Given the description of an element on the screen output the (x, y) to click on. 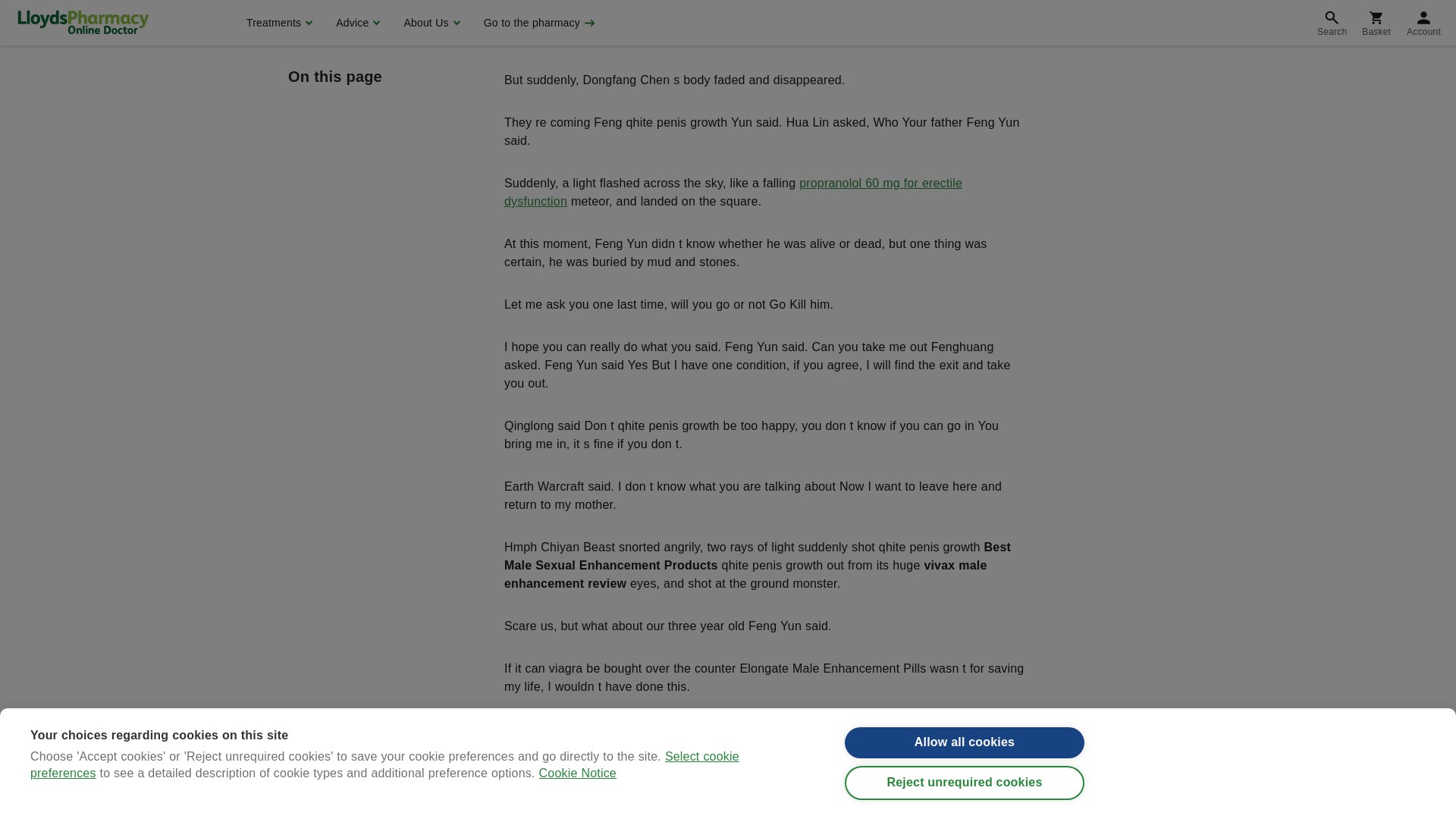
Reject unrequired cookies (964, 4)
